Given the description of an element on the screen output the (x, y) to click on. 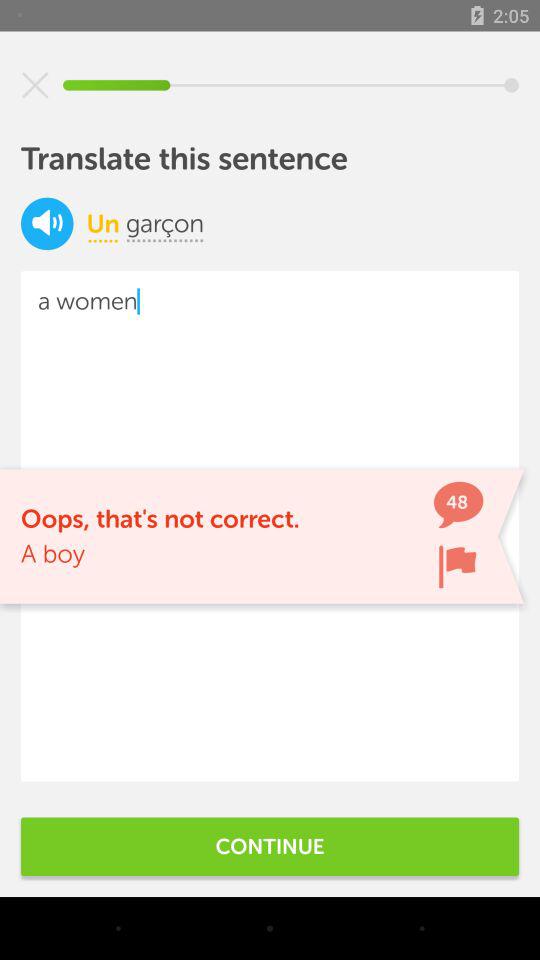
open the continue icon (270, 846)
